Given the description of an element on the screen output the (x, y) to click on. 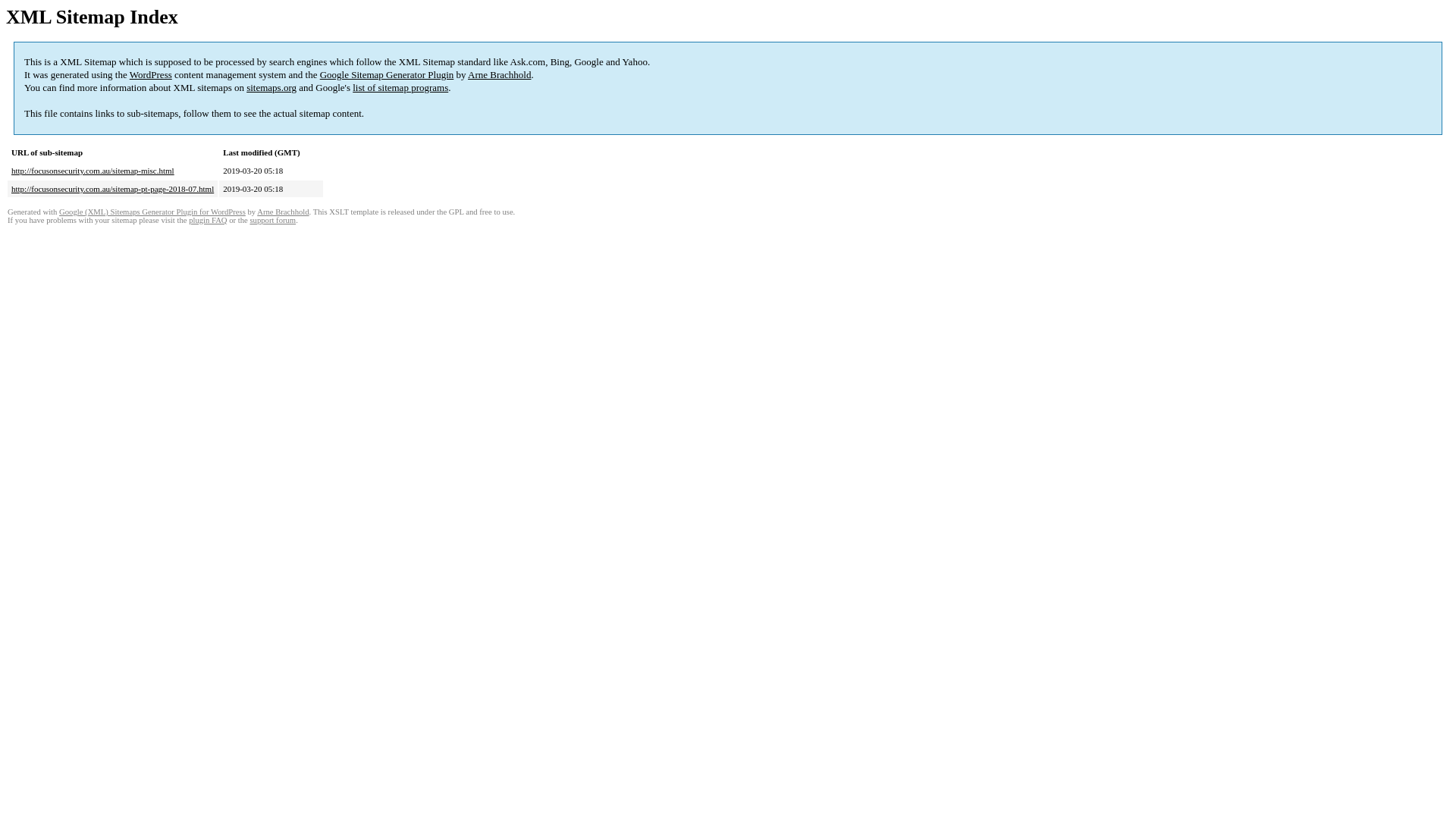
sitemaps.org Element type: text (271, 87)
Arne Brachhold Element type: text (498, 74)
http://focusonsecurity.com.au/sitemap-misc.html Element type: text (92, 170)
WordPress Element type: text (150, 74)
plugin FAQ Element type: text (207, 220)
Google (XML) Sitemaps Generator Plugin for WordPress Element type: text (152, 211)
list of sitemap programs Element type: text (400, 87)
Arne Brachhold Element type: text (282, 211)
http://focusonsecurity.com.au/sitemap-pt-page-2018-07.html Element type: text (112, 188)
support forum Element type: text (272, 220)
Google Sitemap Generator Plugin Element type: text (387, 74)
